Given the description of an element on the screen output the (x, y) to click on. 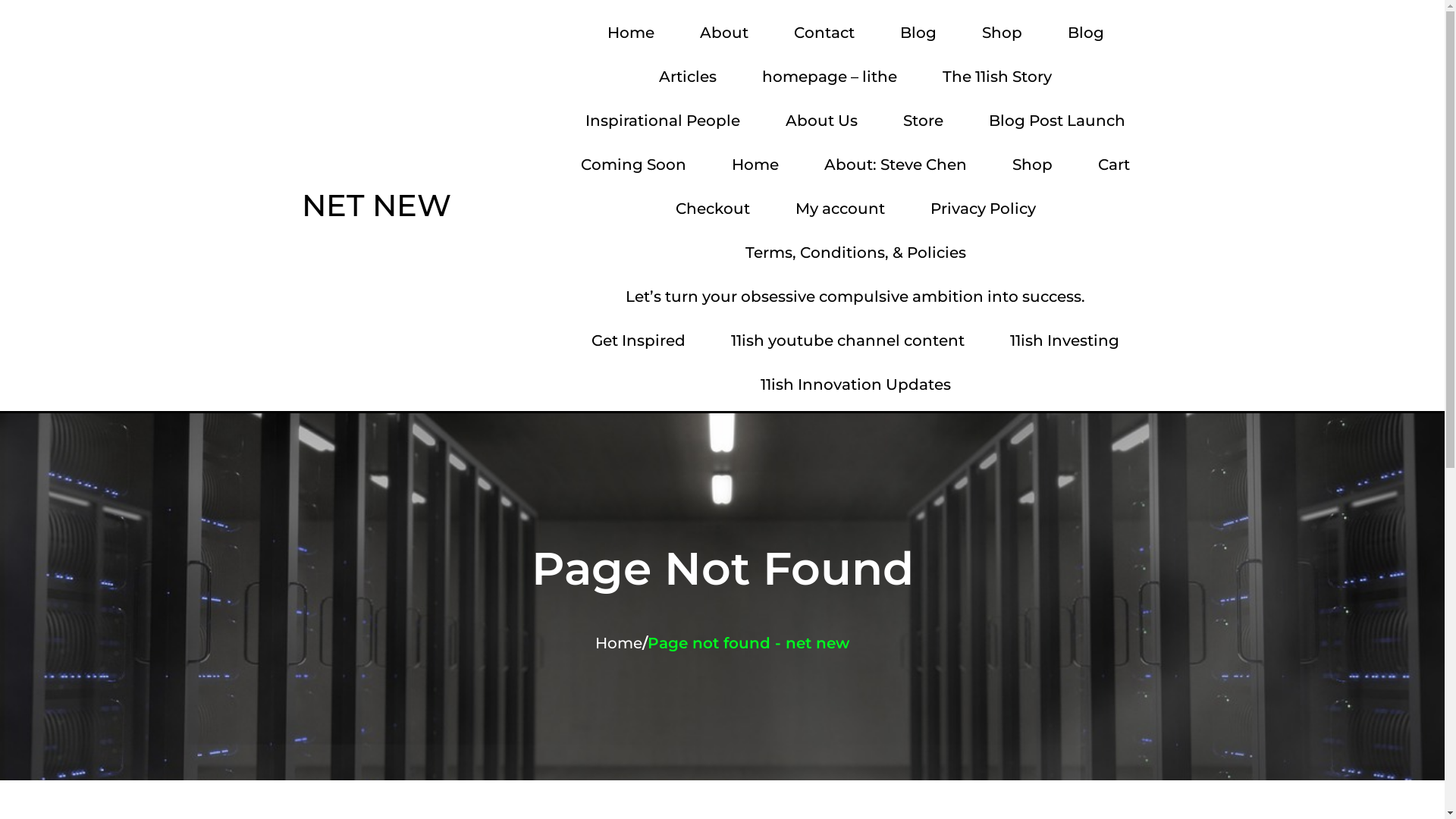
Terms, Conditions, & Policies Element type: text (855, 252)
11ish Investing Element type: text (1064, 340)
Home Element type: text (754, 164)
Privacy Policy Element type: text (982, 208)
Home Element type: text (630, 32)
Cart Element type: text (1113, 164)
Store Element type: text (923, 120)
11ish youtube channel content Element type: text (847, 340)
Checkout Element type: text (712, 208)
Get Inspired Element type: text (638, 340)
Blog Element type: text (918, 32)
Home Element type: text (618, 642)
Coming Soon Element type: text (633, 164)
About: Steve Chen Element type: text (895, 164)
NET NEW Element type: text (411, 205)
Blog Post Launch Element type: text (1056, 120)
About Us Element type: text (821, 120)
11ish Innovation Updates Element type: text (855, 384)
Shop Element type: text (1002, 32)
Articles Element type: text (687, 76)
The 11ish Story Element type: text (996, 76)
Inspirational People Element type: text (662, 120)
Shop Element type: text (1032, 164)
My account Element type: text (839, 208)
Contact Element type: text (824, 32)
About Element type: text (723, 32)
Blog Element type: text (1085, 32)
